Given the description of an element on the screen output the (x, y) to click on. 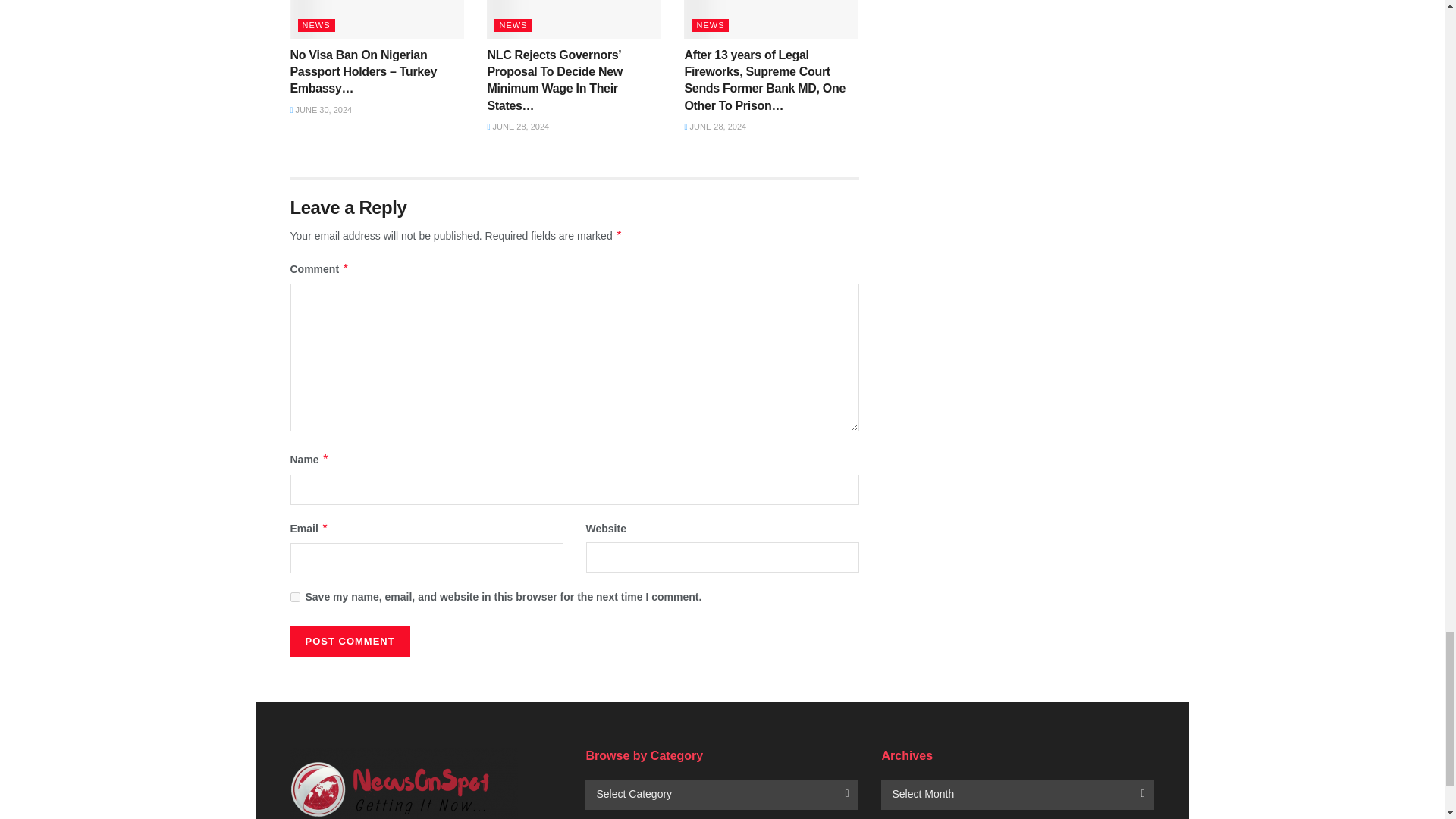
Post Comment (349, 641)
yes (294, 596)
